Given the description of an element on the screen output the (x, y) to click on. 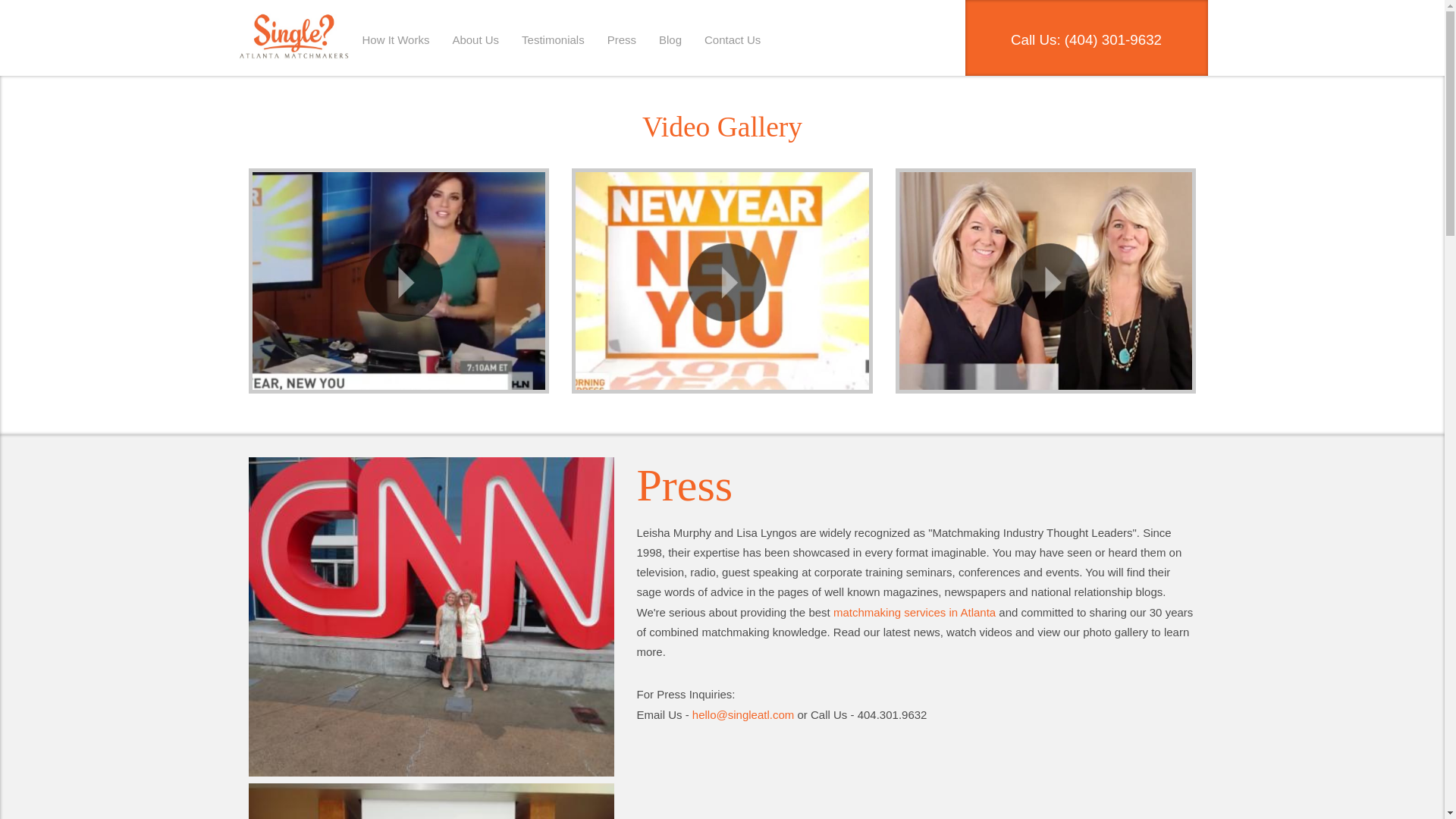
Atlanta Dating News and Press (621, 39)
Successful Matchmaking Stories (553, 39)
Press (621, 39)
Atlanta Matchmaking Service (293, 39)
Contact Us (732, 39)
Blog (670, 39)
How It Works (395, 39)
About Us (475, 39)
Testimonials (553, 39)
Contact Us (732, 39)
matchmaking services in Atlanta (913, 612)
How Matchmaking Works (395, 39)
Home (293, 39)
